Given the description of an element on the screen output the (x, y) to click on. 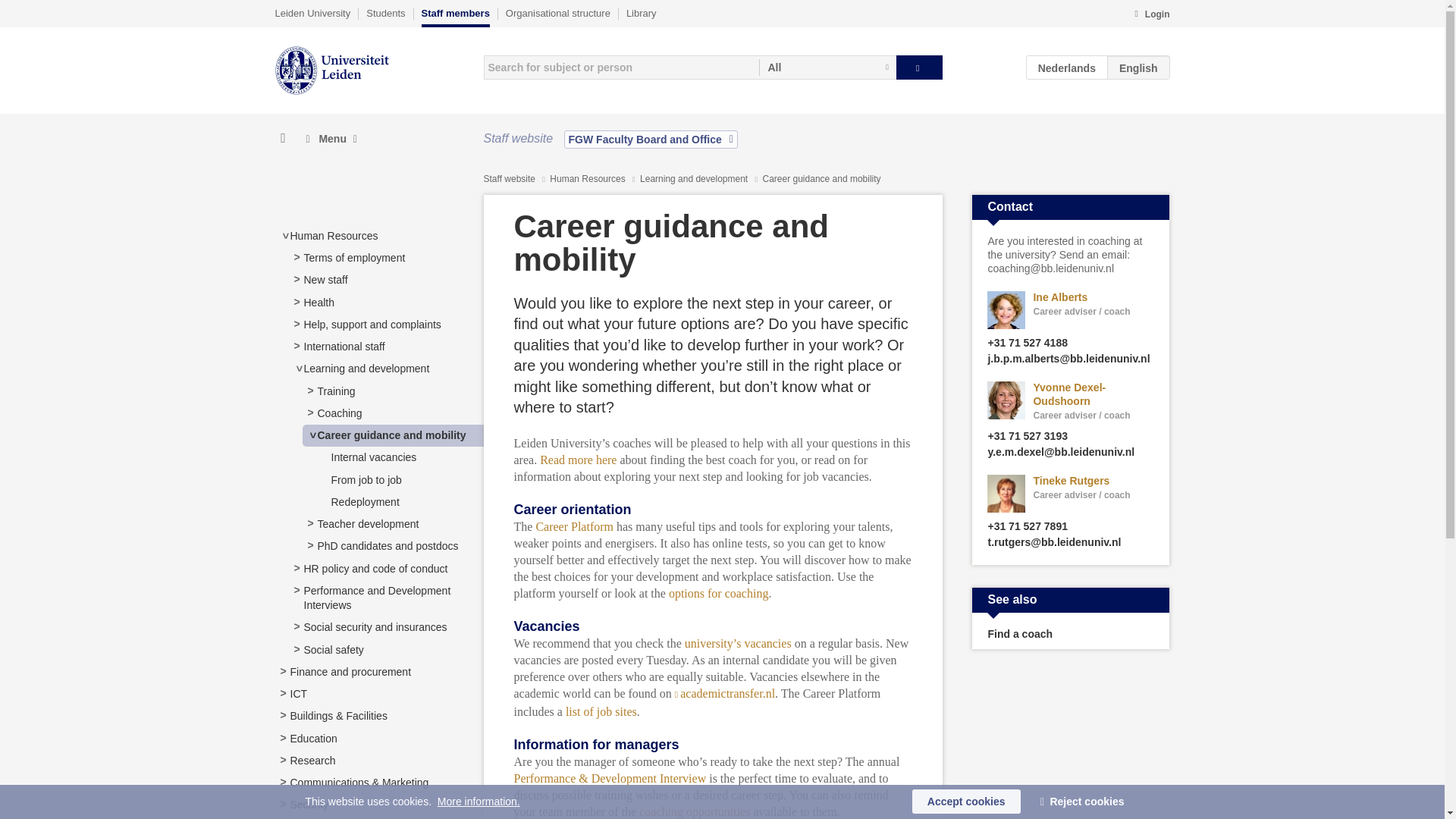
All (827, 67)
NL (1067, 67)
Terms of employment (353, 257)
FGW Faculty Board and Office (651, 139)
Library (641, 13)
Human Resources (333, 235)
Login (1151, 14)
Menu (330, 139)
Students (385, 13)
Leiden University (312, 13)
Organisational structure (557, 13)
Search (919, 67)
Staff members (455, 17)
